Given the description of an element on the screen output the (x, y) to click on. 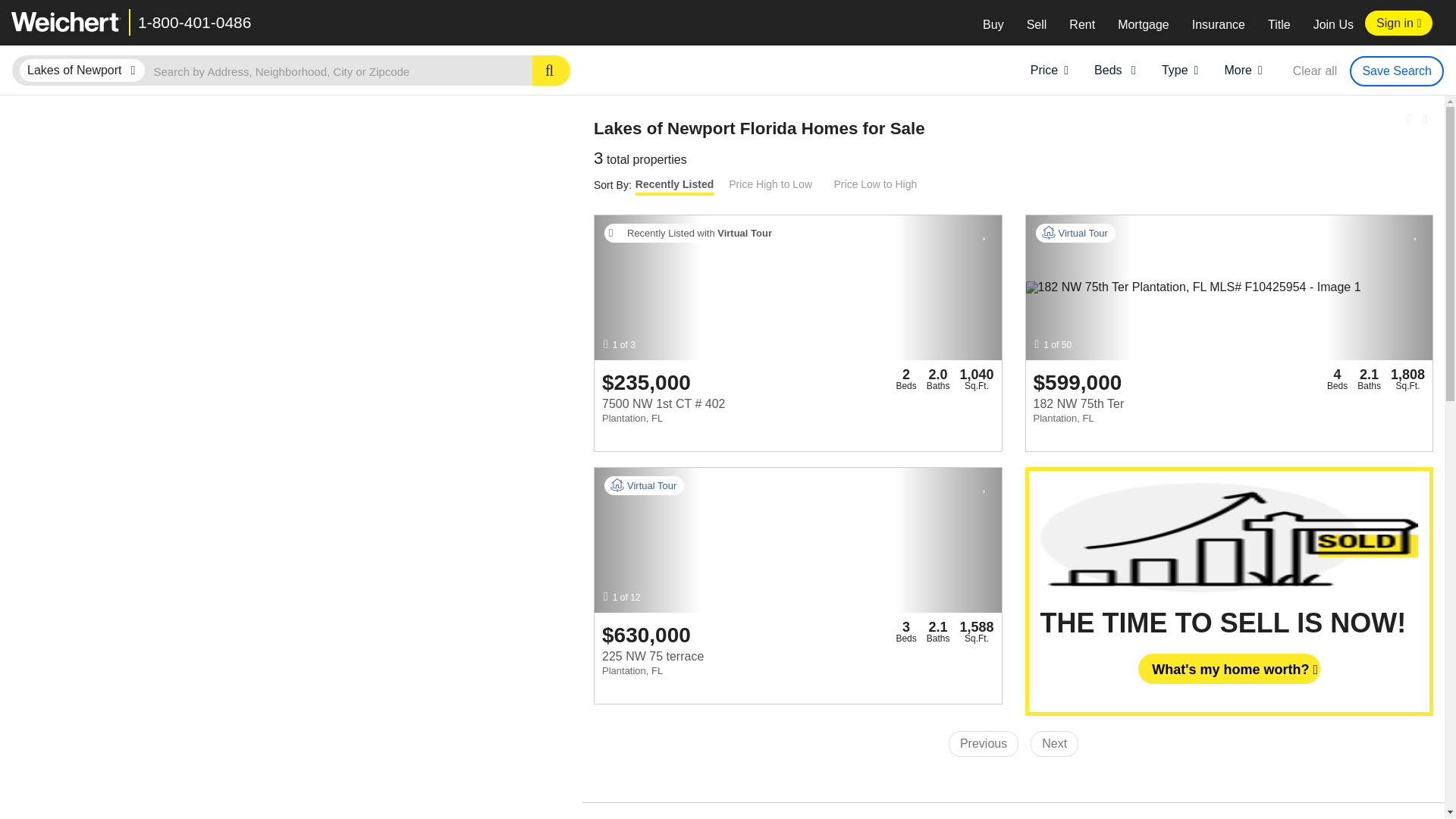
Insurance (1218, 24)
Rent (1082, 24)
Mortgage (1143, 24)
Sign in (1398, 23)
Beds (1115, 68)
Sell (1036, 24)
Buy (992, 24)
Title (1278, 24)
1-800-401-0486 (194, 22)
